Given the description of an element on the screen output the (x, y) to click on. 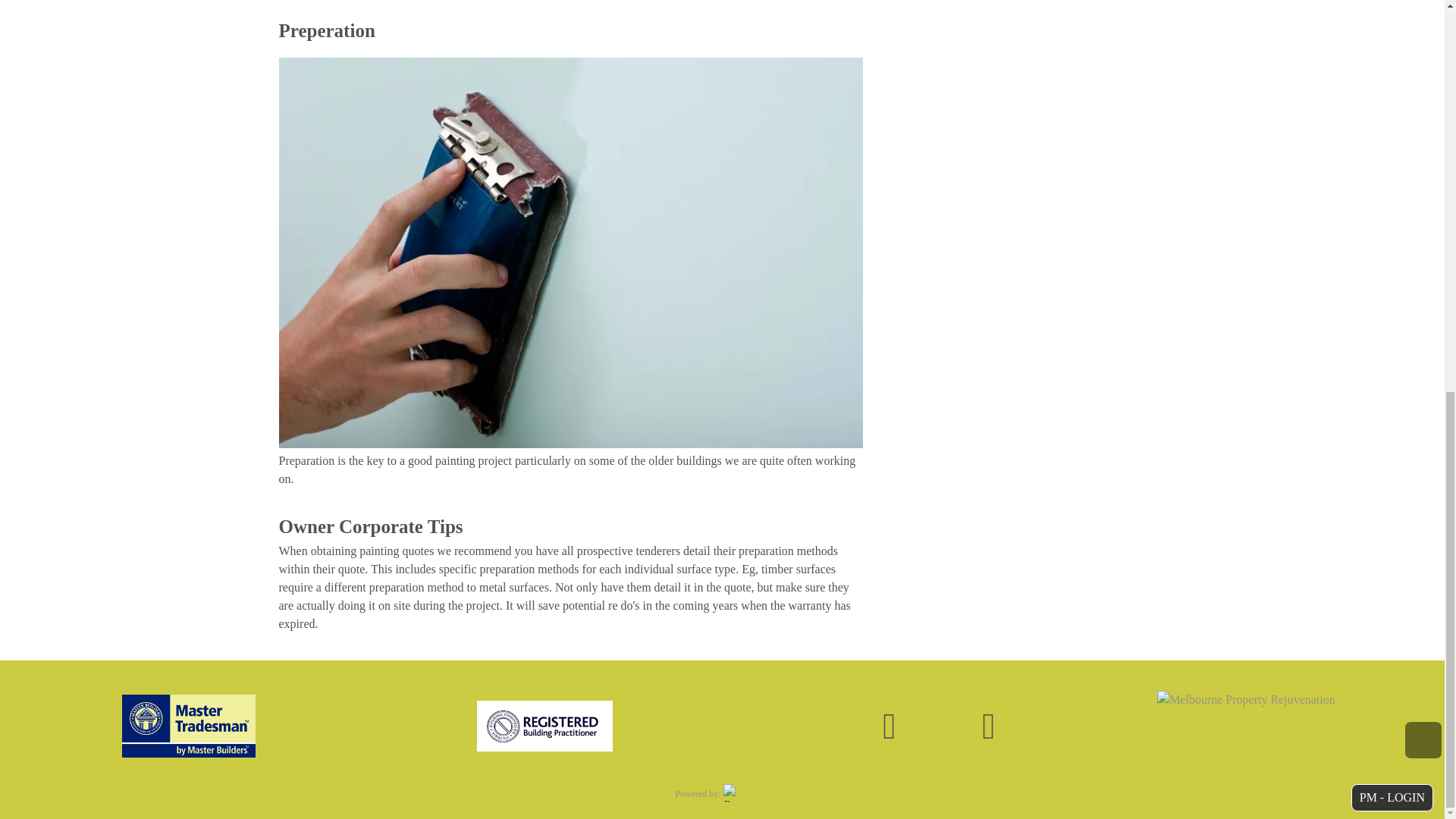
PM - LOGIN (1391, 797)
